Given the description of an element on the screen output the (x, y) to click on. 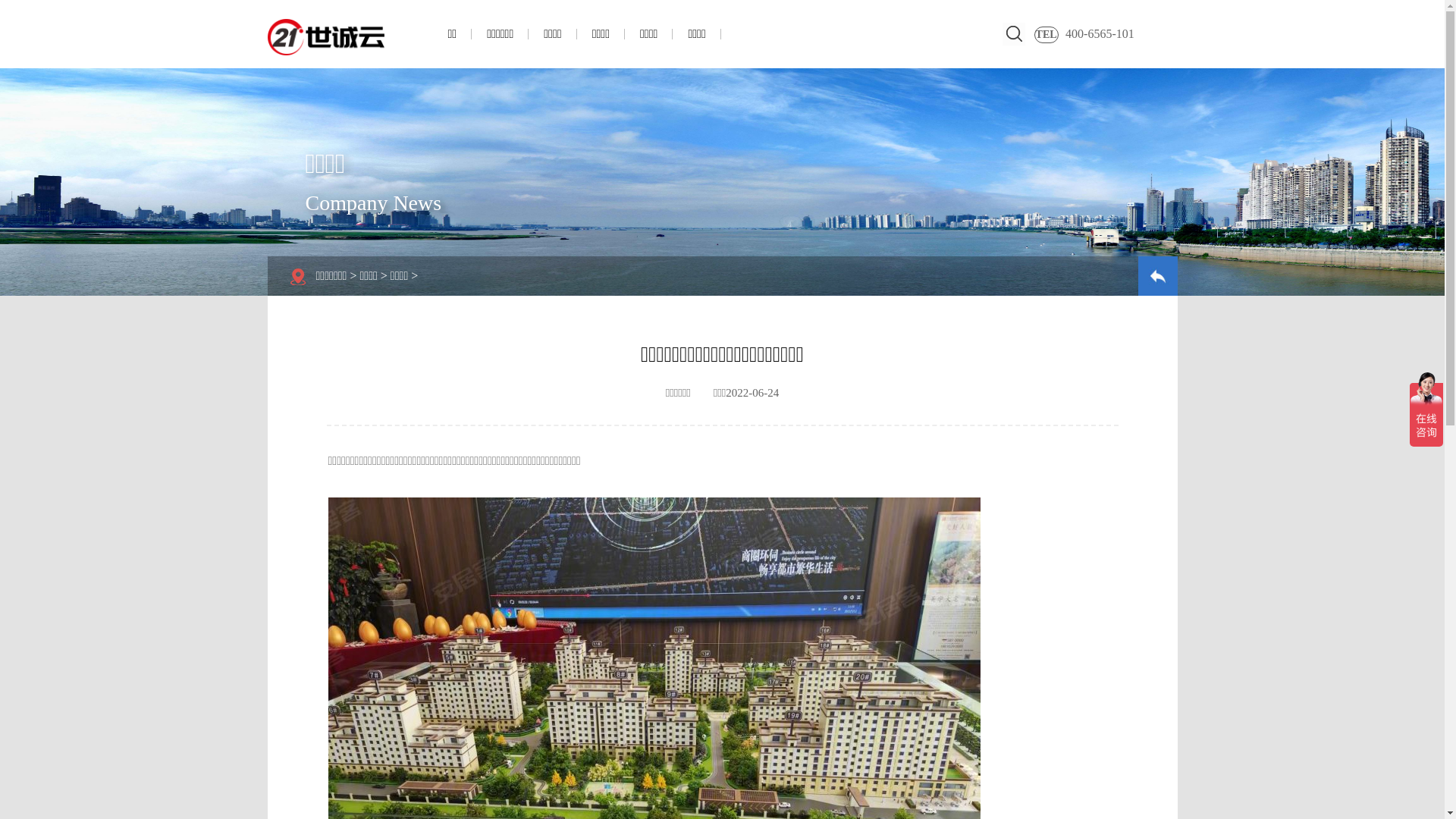
TEL Element type: text (1046, 34)
400-6565-101 Element type: text (1108, 34)
